Given the description of an element on the screen output the (x, y) to click on. 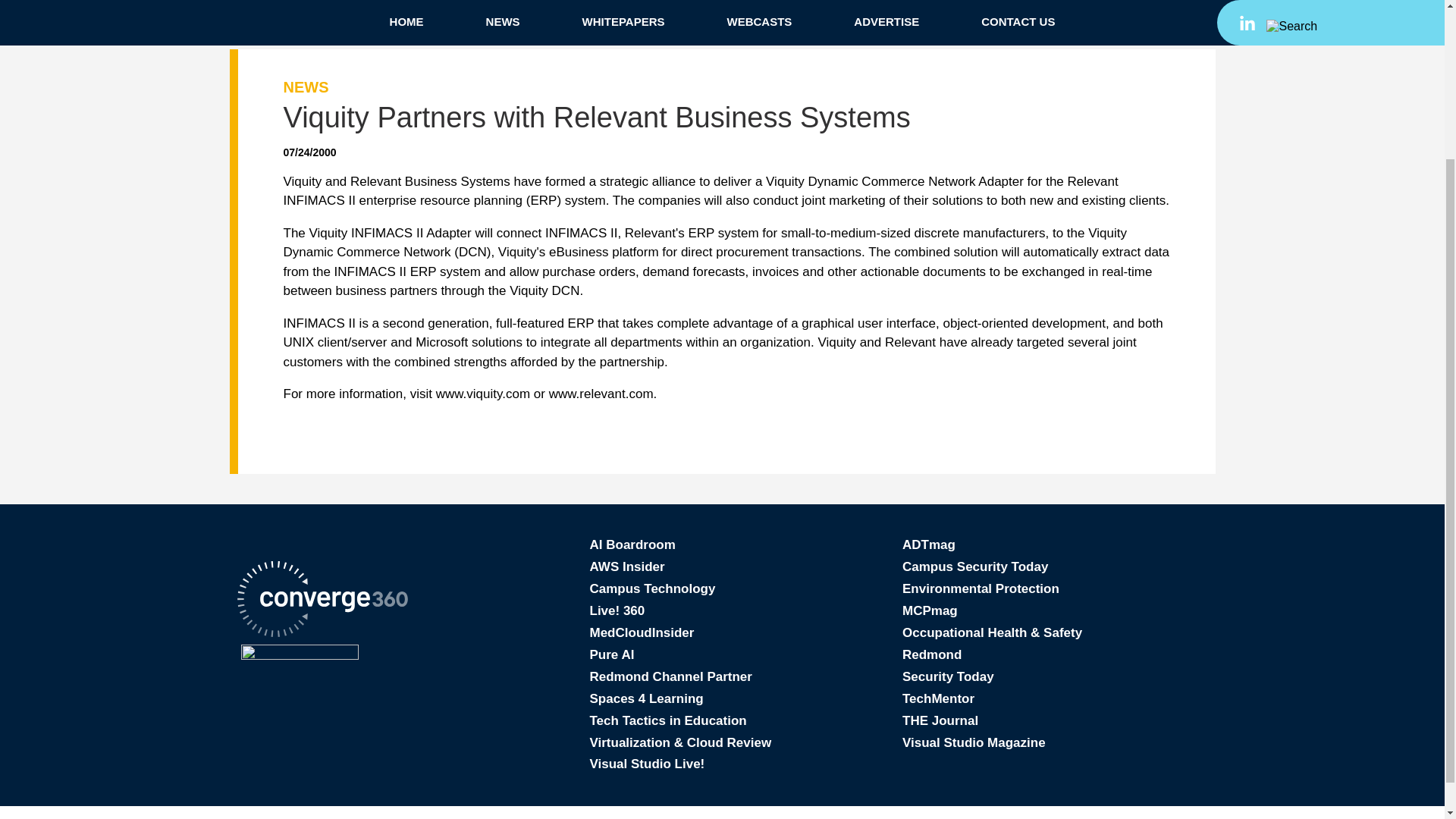
Environmental Protection (980, 588)
MCPmag (930, 610)
Live! 360 (617, 610)
Tech Tactics in Education (667, 720)
ADTmag (928, 544)
AWS Insider (627, 566)
Security Today (948, 676)
TechMentor (938, 698)
NEWS (306, 86)
Pure AI (611, 654)
